Given the description of an element on the screen output the (x, y) to click on. 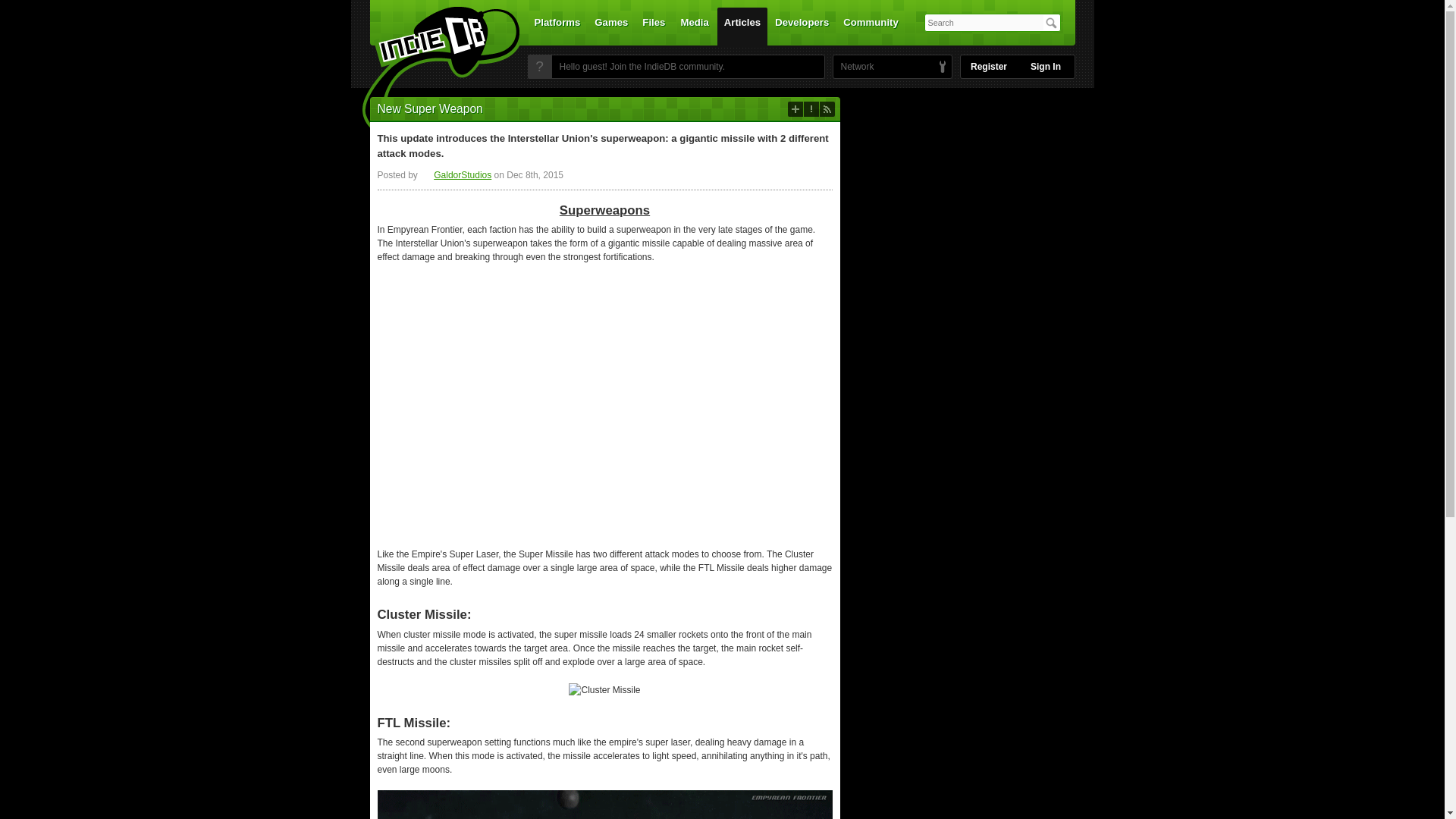
DBolical (852, 66)
Post news (794, 109)
Report (810, 109)
Files (652, 26)
Join IndieDB (539, 66)
Search (1050, 22)
Developers (801, 26)
Platforms (557, 26)
Article Manager (456, 174)
RSS (826, 109)
Articles (742, 26)
Search IndieDB (1050, 22)
Media (694, 26)
Games (611, 26)
Community (870, 26)
